Given the description of an element on the screen output the (x, y) to click on. 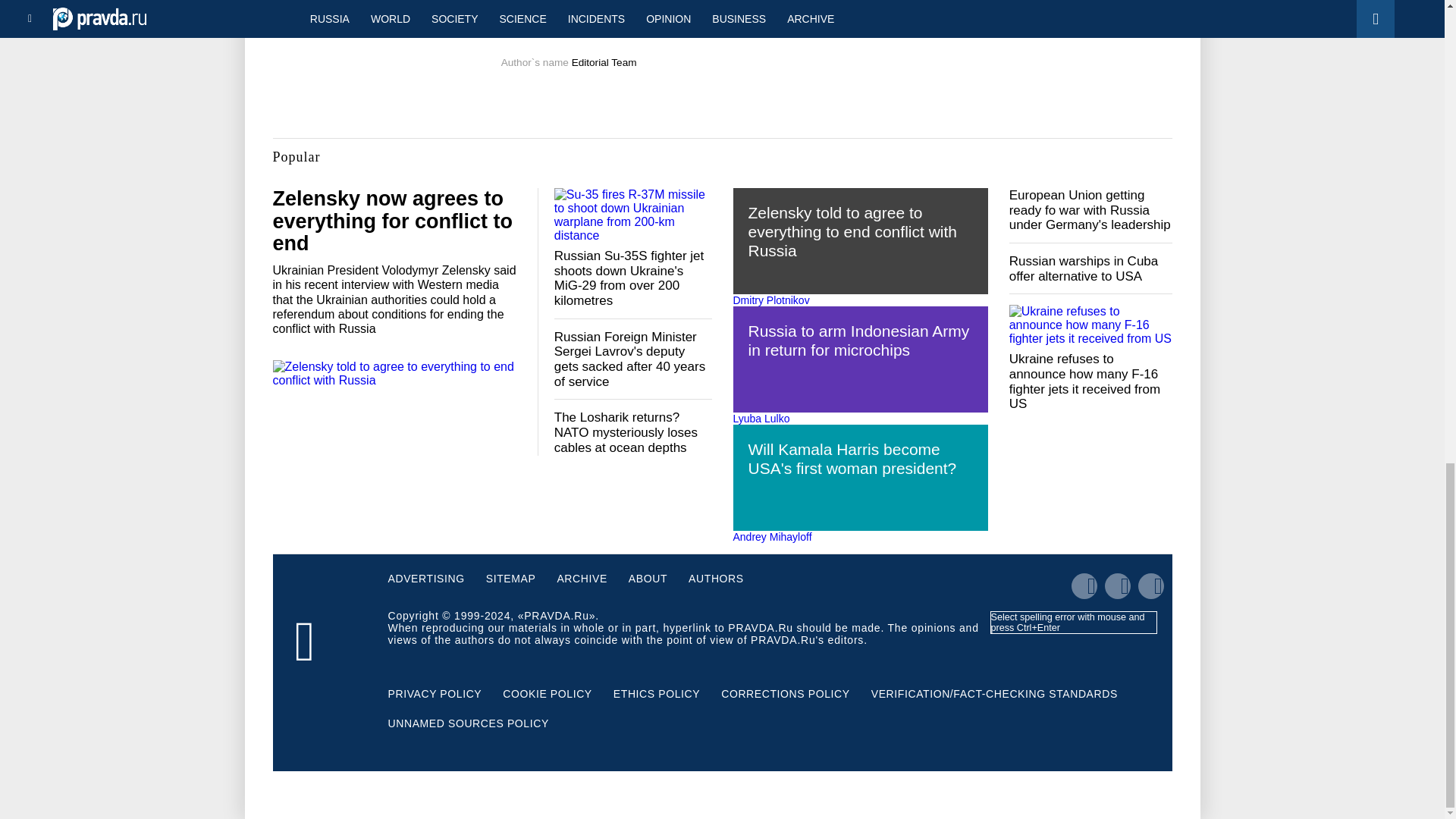
RSS (795, 26)
Telegram channel (652, 26)
Facebook (744, 26)
